Given the description of an element on the screen output the (x, y) to click on. 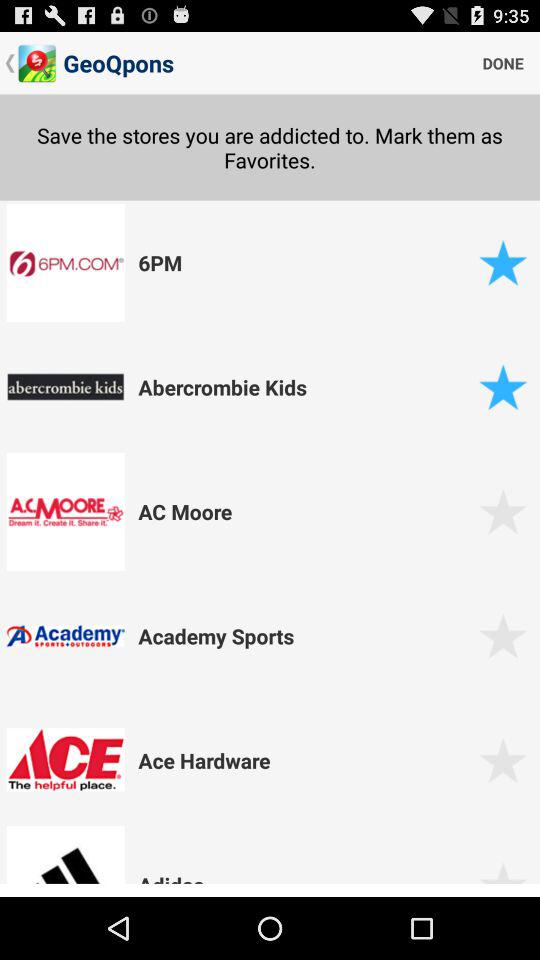
add to favourite option (502, 879)
